Given the description of an element on the screen output the (x, y) to click on. 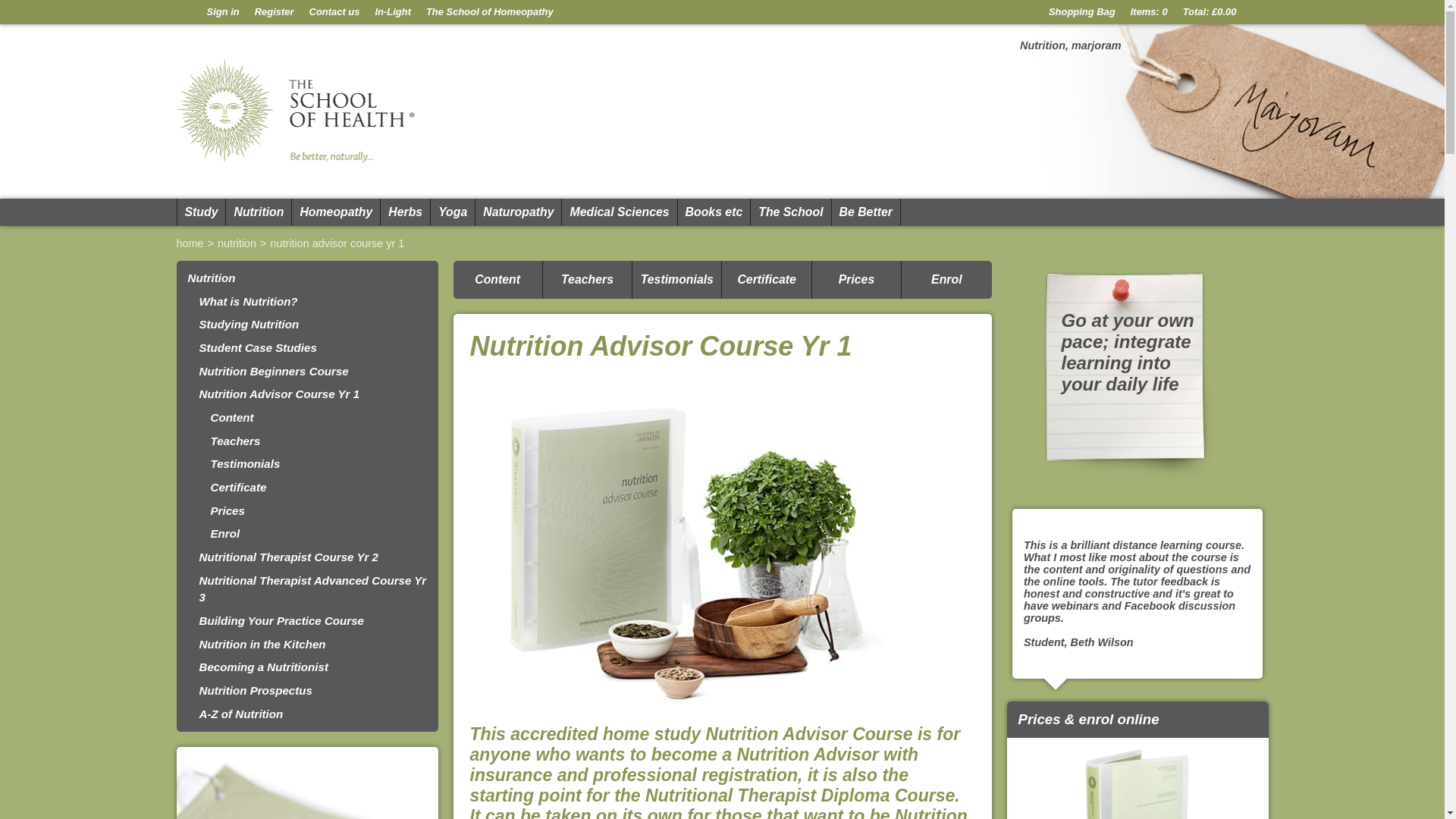
Items: 0 (1148, 12)
Sign in (222, 12)
Sign in (222, 12)
Register (274, 12)
Return to homepage (187, 12)
Courses (200, 212)
Study (200, 212)
Nutrition (258, 212)
Shopping Bag (1081, 12)
Search (1254, 12)
